Given the description of an element on the screen output the (x, y) to click on. 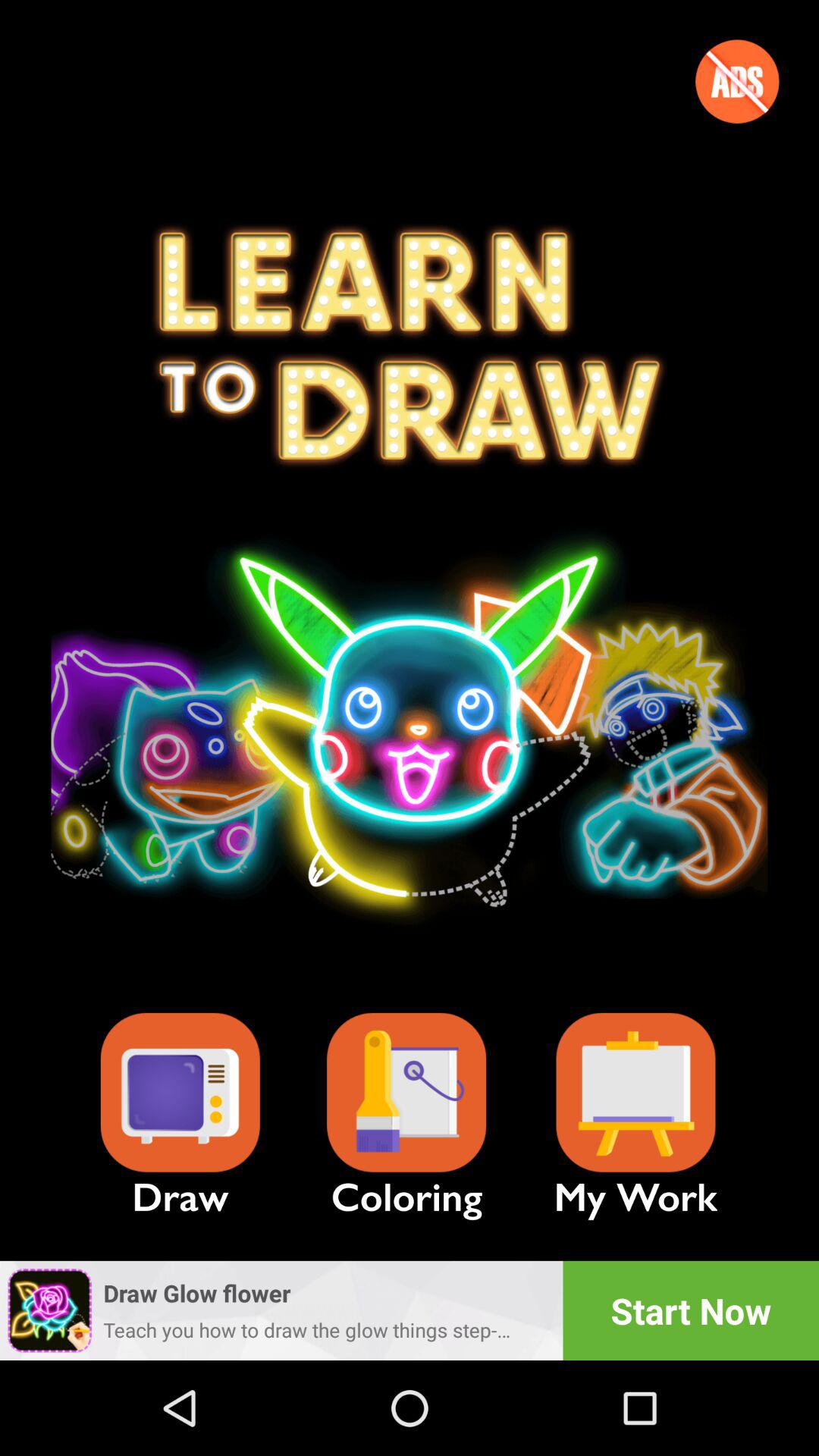
scroll to start now app (691, 1310)
